Given the description of an element on the screen output the (x, y) to click on. 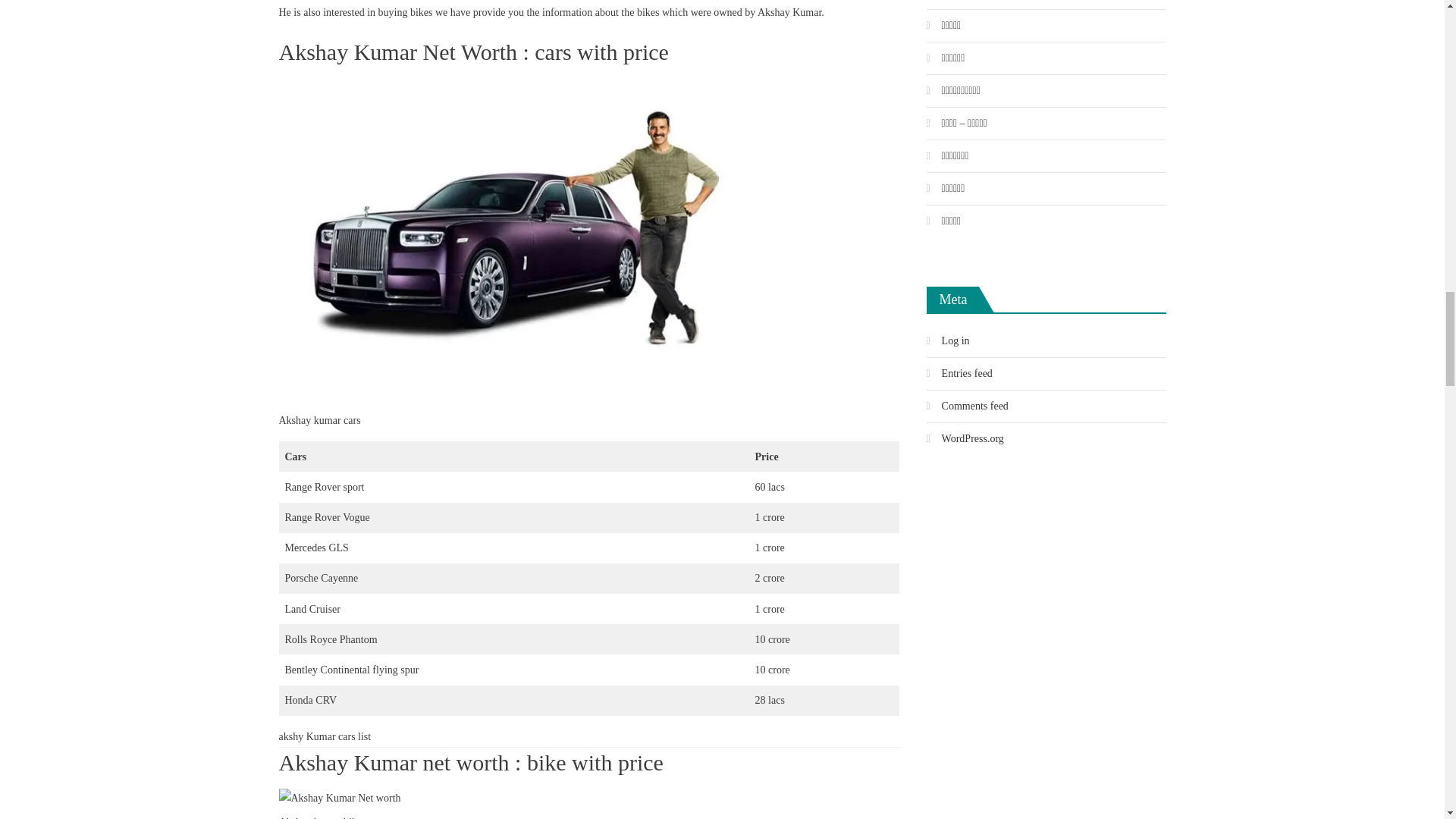
Akshay Kumar Net worth (340, 797)
